Given the description of an element on the screen output the (x, y) to click on. 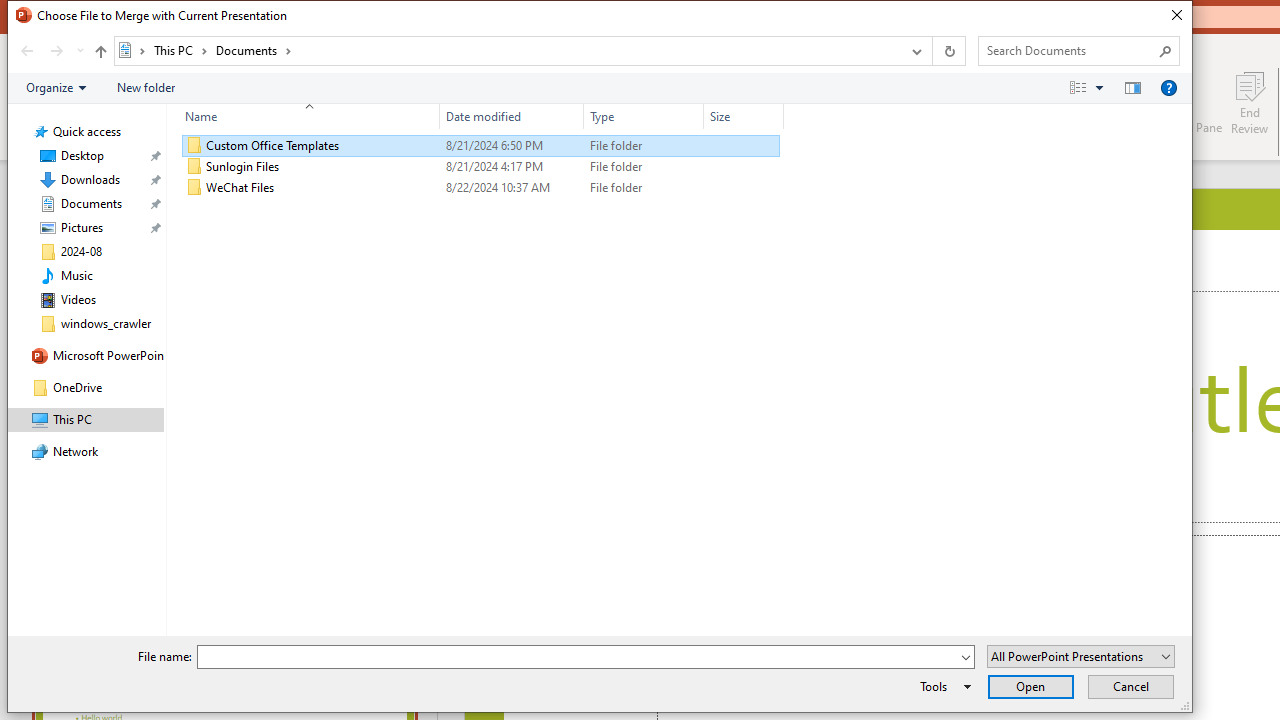
Files of type: (1080, 656)
Command Module (599, 87)
Navigation buttons (50, 51)
Views (1090, 87)
WeChat Files (480, 187)
&Help (1168, 87)
Address: Documents (506, 51)
Date modified (511, 187)
Tools (942, 686)
Preview pane (1132, 87)
Organize (56, 87)
Type (643, 187)
Type (643, 115)
Forward (Alt + Right Arrow) (56, 51)
